Given the description of an element on the screen output the (x, y) to click on. 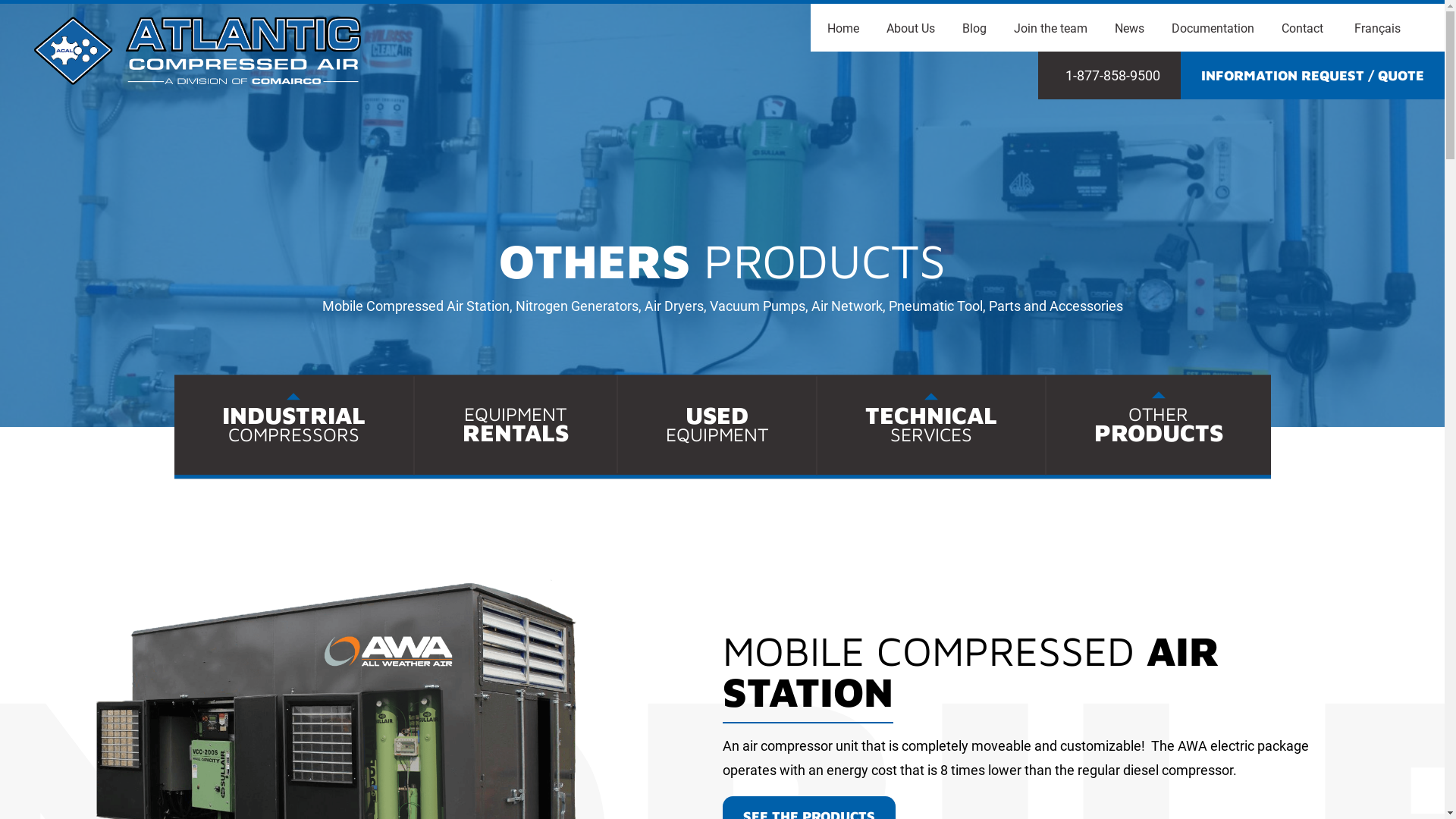
News Element type: text (1129, 28)
EQUIPMENT
RENTALS Element type: text (514, 423)
USED
EQUIPMENT Element type: text (716, 425)
Join the team Element type: text (1050, 28)
INDUSTRIAL
COMPRESSORS Element type: text (293, 425)
TECHNICAL
SERVICES Element type: text (930, 425)
INFORMATION REQUEST / QUOTE Element type: text (1312, 75)
Contact Element type: text (1302, 28)
OTHER
PRODUCTS Element type: text (1158, 423)
Documentation Element type: text (1212, 28)
Blog Element type: text (974, 28)
About Us Element type: text (910, 28)
Home Element type: text (843, 28)
